Given the description of an element on the screen output the (x, y) to click on. 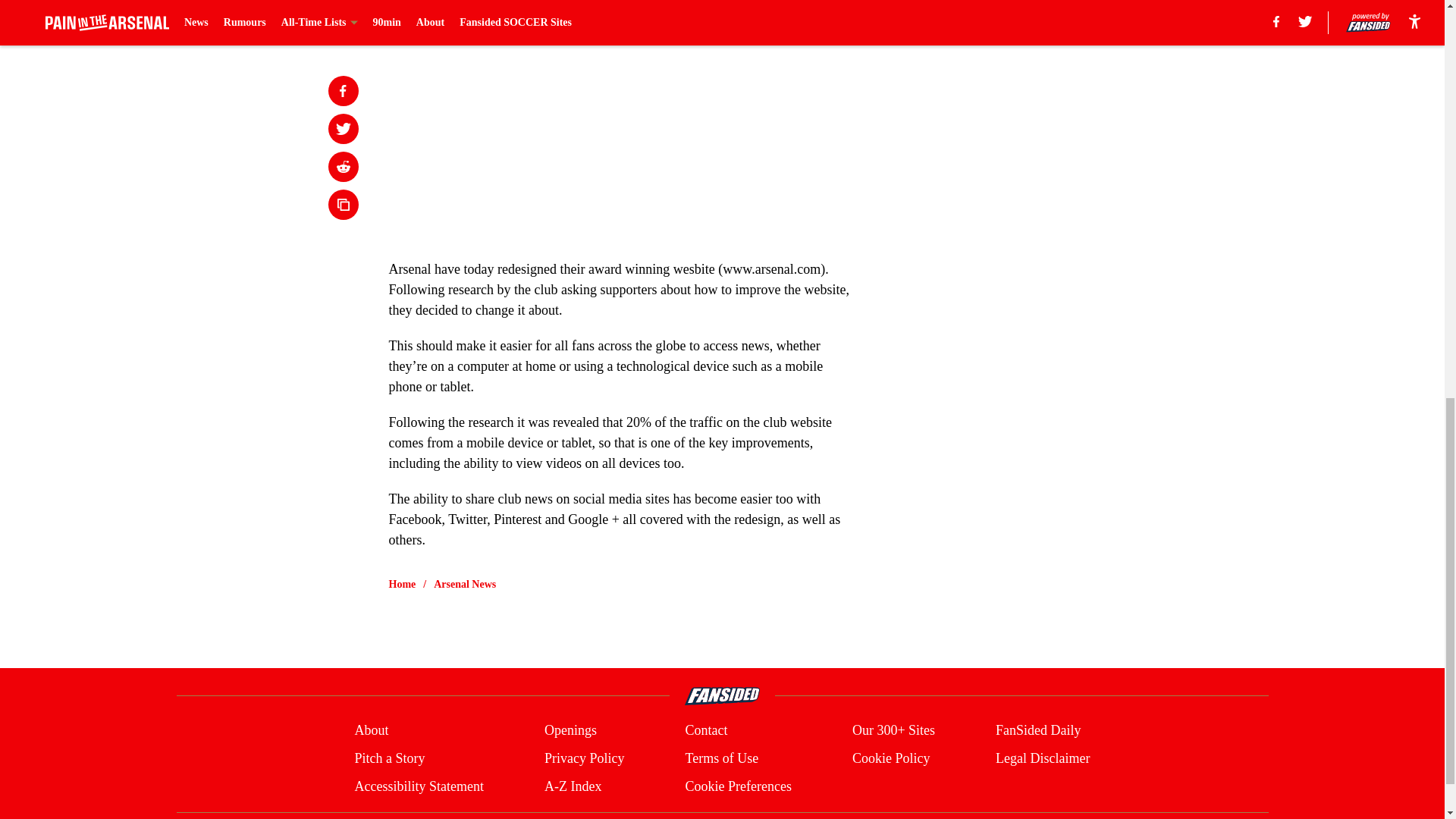
Pitch a Story (389, 758)
Openings (570, 730)
Arsenal News (464, 584)
Accessibility Statement (418, 786)
FanSided Daily (1038, 730)
About (370, 730)
Terms of Use (721, 758)
Contact (705, 730)
Legal Disclaimer (1042, 758)
A-Z Index (572, 786)
